Given the description of an element on the screen output the (x, y) to click on. 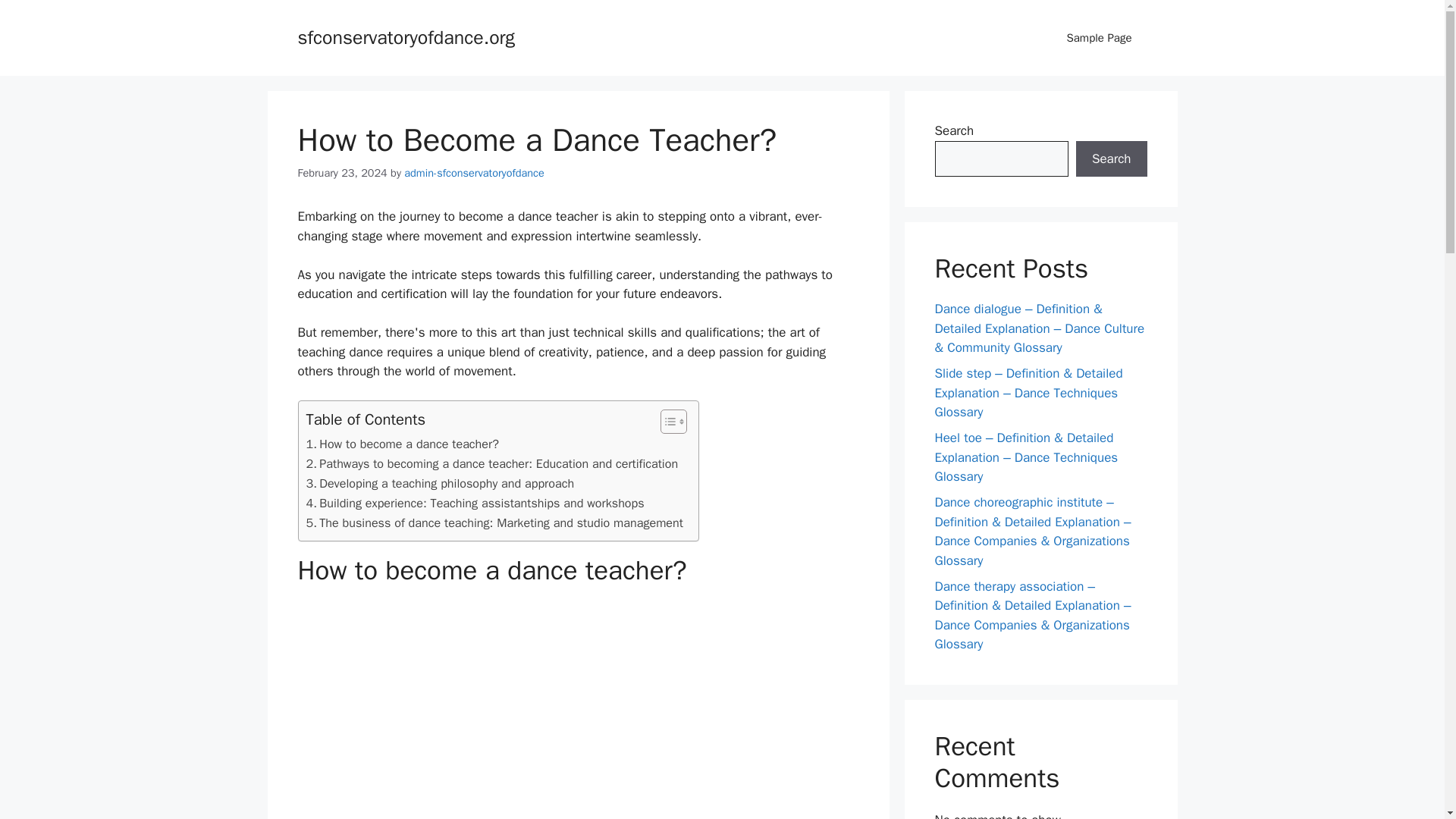
How to become a dance teacher? (402, 444)
admin-sfconservatoryofdance (474, 172)
View all posts by admin-sfconservatoryofdance (474, 172)
YouTube video player (578, 709)
Developing a teaching philosophy and approach (440, 483)
How to become a dance teacher? (402, 444)
Sample Page (1099, 37)
Building experience: Teaching assistantships and workshops (475, 503)
sfconservatoryofdance.org (406, 37)
Building experience: Teaching assistantships and workshops (475, 503)
Developing a teaching philosophy and approach (440, 483)
